Given the description of an element on the screen output the (x, y) to click on. 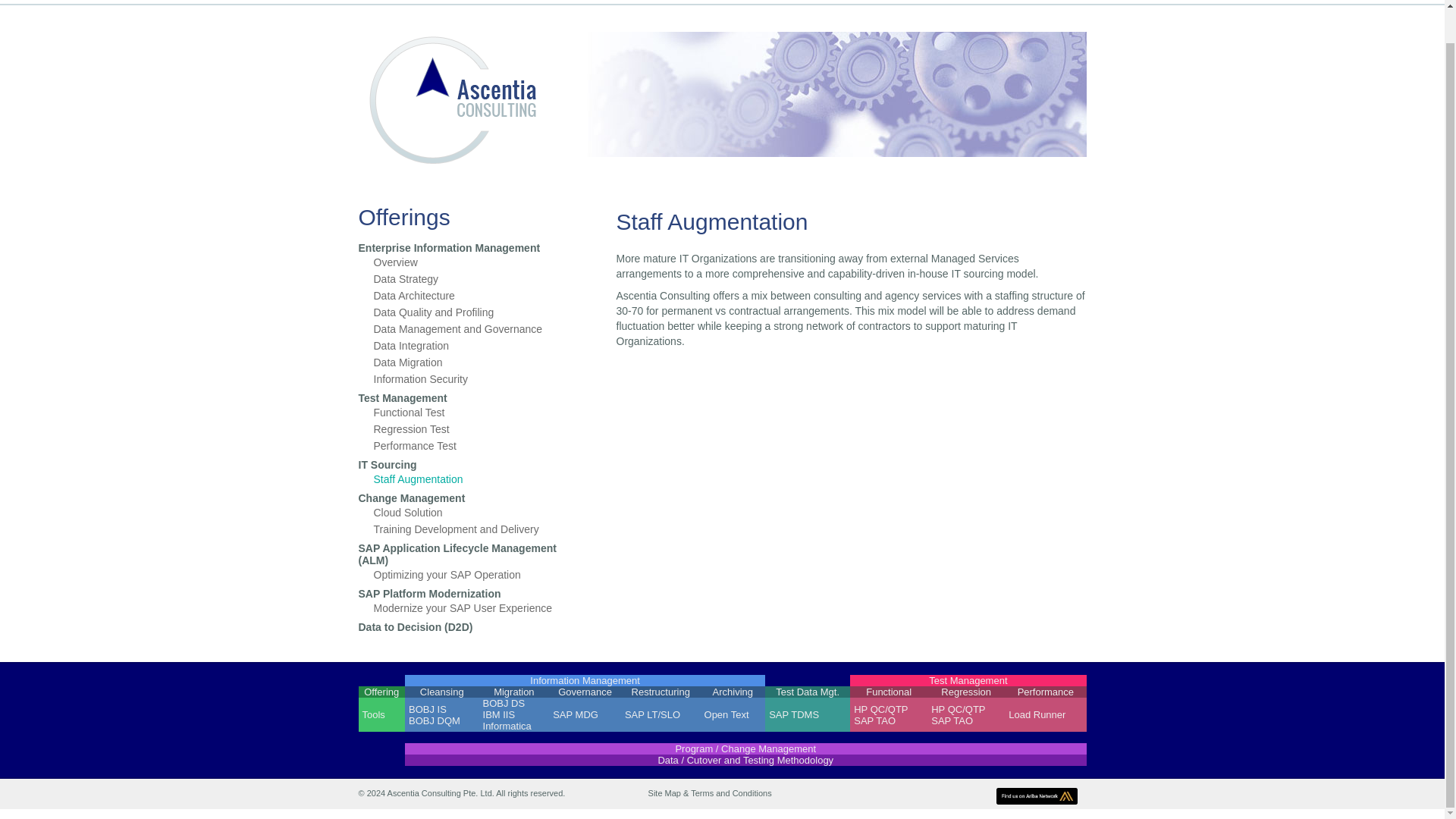
Site Map (664, 792)
Data Management and Governance (456, 328)
Offerings (471, 216)
Overview (394, 262)
Modernize your SAP User Experience (461, 607)
Data Quality and Profiling (432, 312)
Performance Test (413, 445)
Data Integration (410, 345)
Ascentia Consulting (449, 163)
Functional Test (408, 412)
Data Migration (407, 362)
Cloud Solution (407, 512)
Staff Augmentation (417, 479)
Optimizing your SAP Operation (445, 574)
Data Strategy (405, 278)
